Given the description of an element on the screen output the (x, y) to click on. 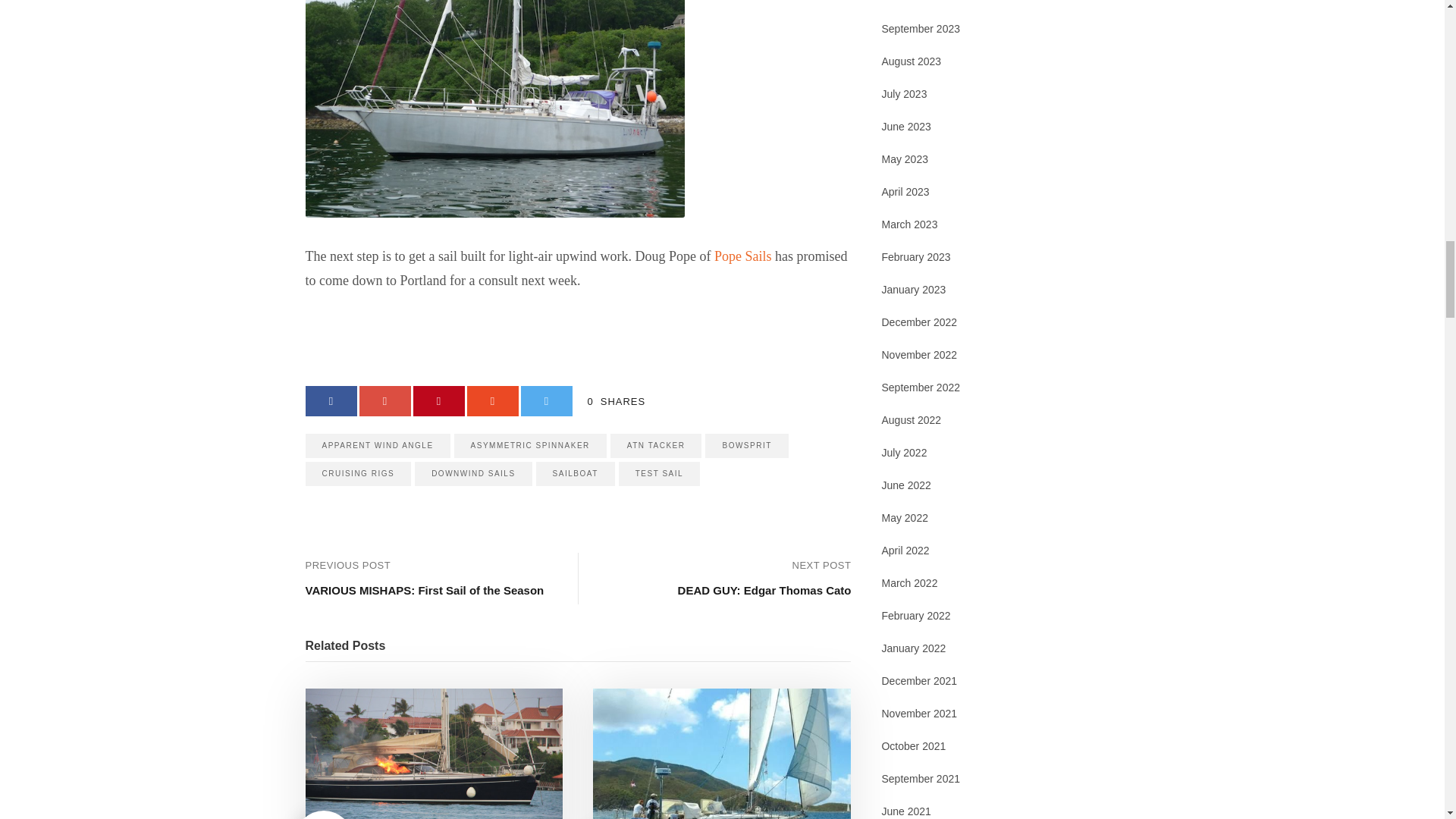
SAILBOAT (574, 473)
Pope Sails website (742, 255)
ASYMMETRIC SPINNAKER (530, 445)
Pope Sails (742, 255)
Swan 48 Avocation (721, 753)
APPARENT WIND ANGLE (376, 445)
ATN TACKER (655, 445)
TEST SAIL (659, 473)
CRUISING RIGS (357, 473)
BOWSPRIT (745, 445)
Like this (323, 814)
Burning yacht 1 (433, 753)
DEAD GUY: Edgar Thomas Cato (764, 590)
VARIOUS MISHAPS: First Sail of the Season (423, 590)
DOWNWIND SAILS (472, 473)
